Given the description of an element on the screen output the (x, y) to click on. 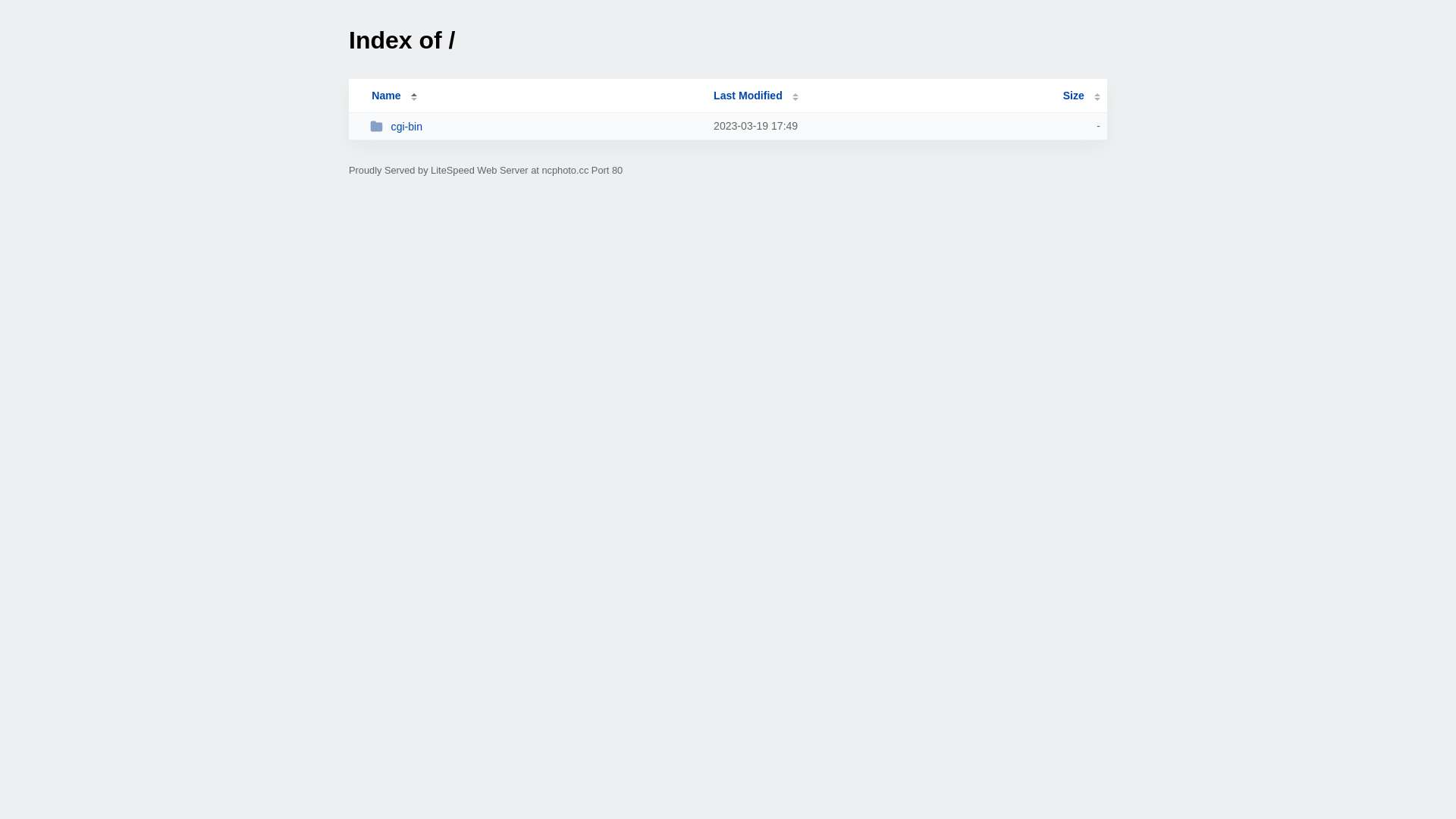
Last Modified Element type: text (755, 95)
cgi-bin Element type: text (534, 125)
Size Element type: text (1081, 95)
Name Element type: text (385, 95)
